Given the description of an element on the screen output the (x, y) to click on. 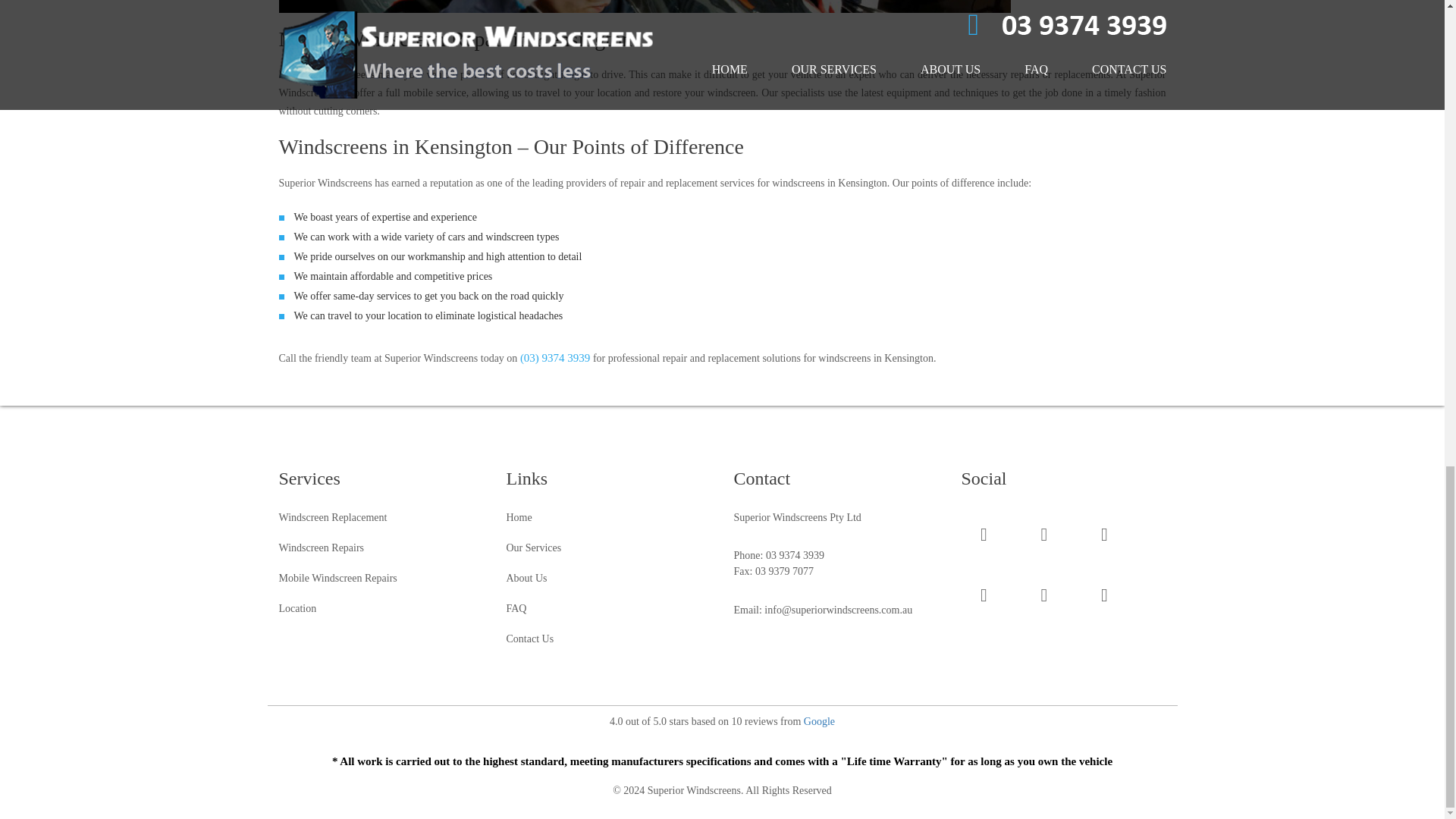
Mobile Windscreen Repairs (338, 577)
Windscreen Repairs (322, 547)
Facebook (983, 536)
03 9374 3939 (794, 555)
Twitter (1044, 536)
Google (818, 721)
Location (298, 608)
Pinterest (1103, 597)
About Us (526, 577)
FAQ (516, 608)
Contact Us (530, 638)
Youtube (1103, 536)
Home (519, 517)
03 9374 3939 (794, 555)
Windscreen Replacement (333, 517)
